Given the description of an element on the screen output the (x, y) to click on. 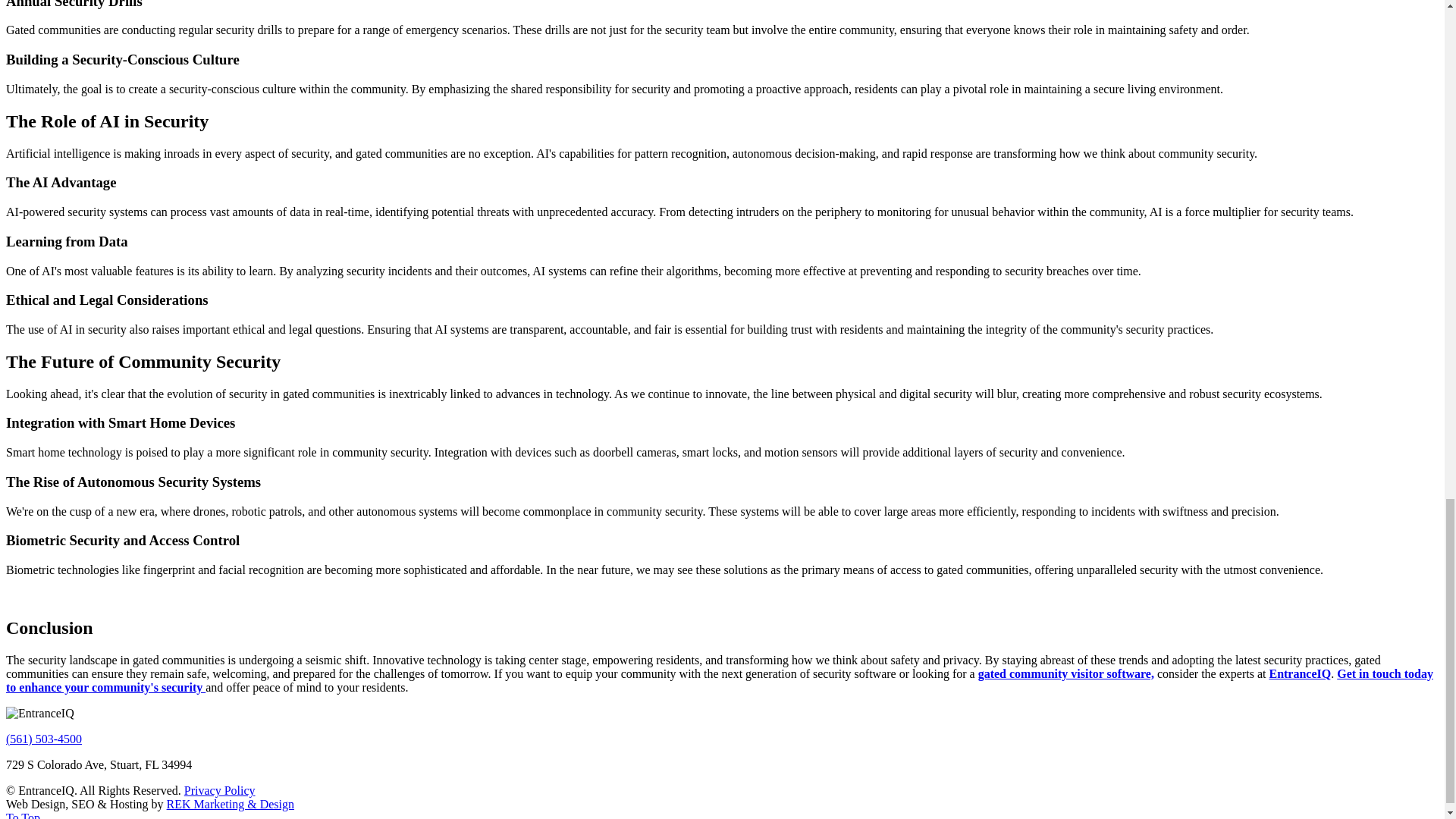
gated community visitor software, (1066, 673)
EntranceIQ (1299, 673)
Privacy Policy (220, 789)
